Given the description of an element on the screen output the (x, y) to click on. 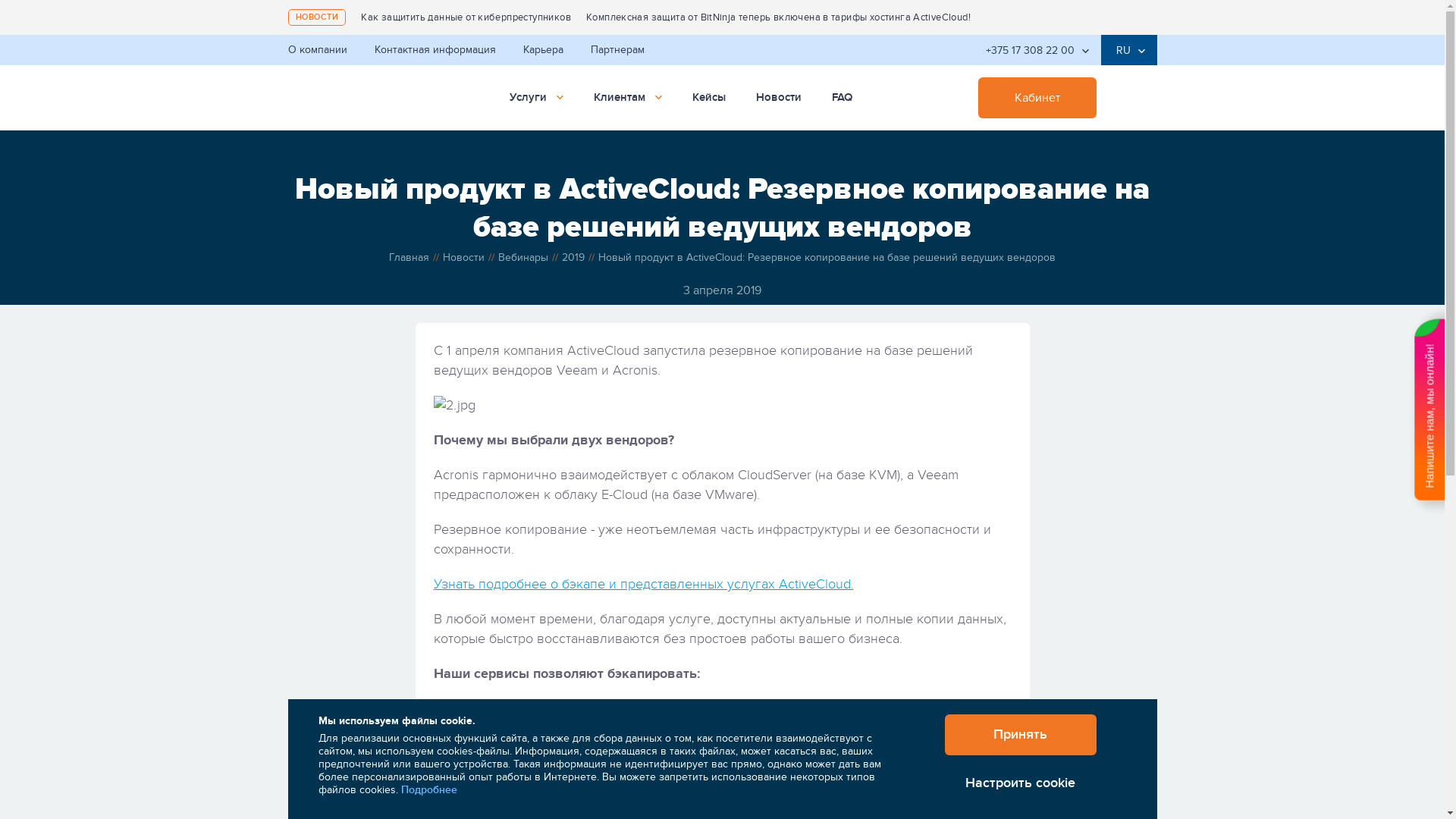
2.jpg Element type: hover (722, 405)
2019 Element type: text (572, 256)
FAQ Element type: text (840, 97)
